Given the description of an element on the screen output the (x, y) to click on. 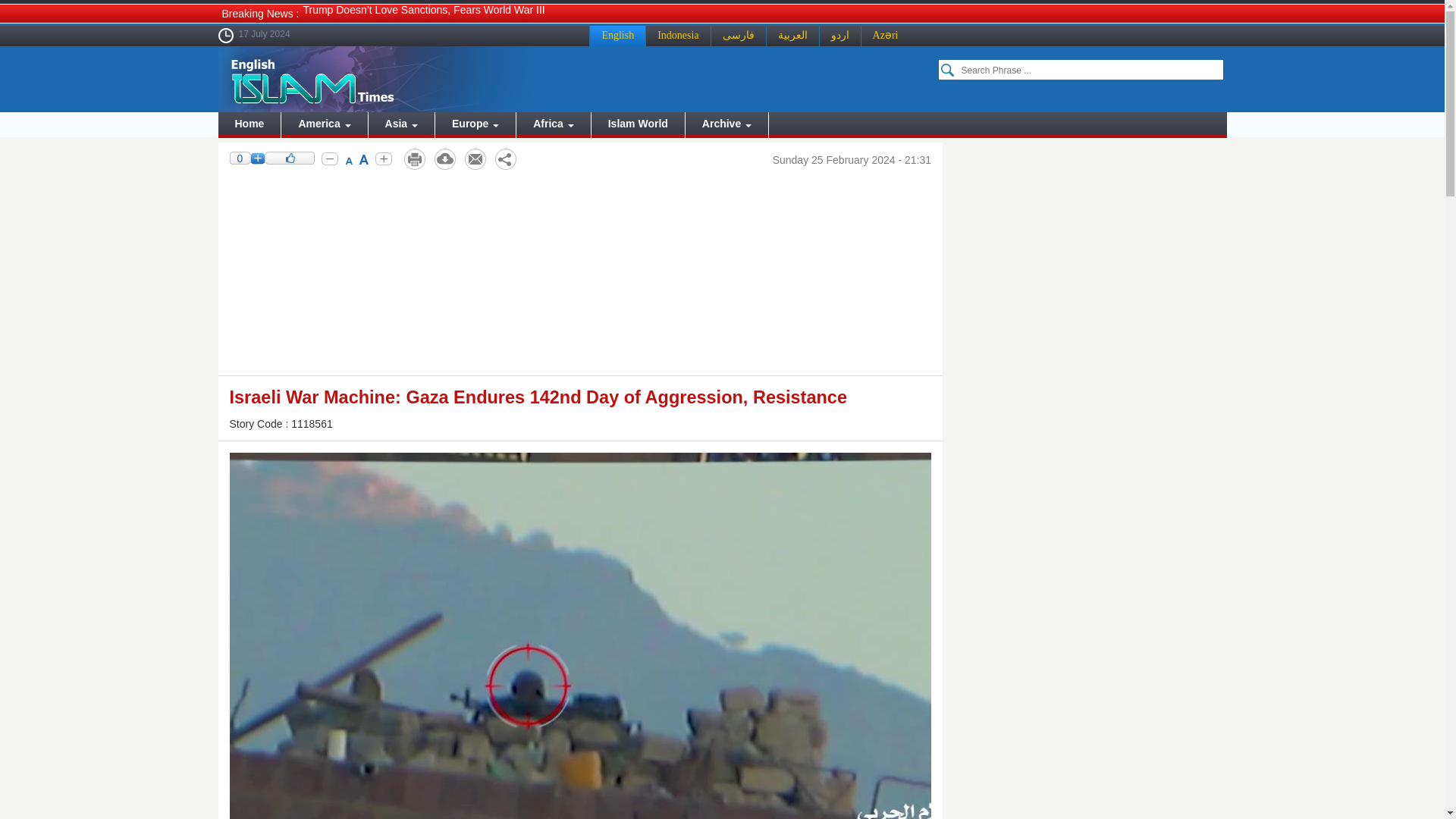
Downloading the File (444, 159)
Home (249, 125)
America (323, 125)
Kan'ani Asks Muslims to Remember Gaza on Ashura Day (437, 28)
Indonesia (677, 35)
Send to a Friend (475, 159)
English (617, 35)
Print Edition (414, 159)
Asia (400, 125)
